Given the description of an element on the screen output the (x, y) to click on. 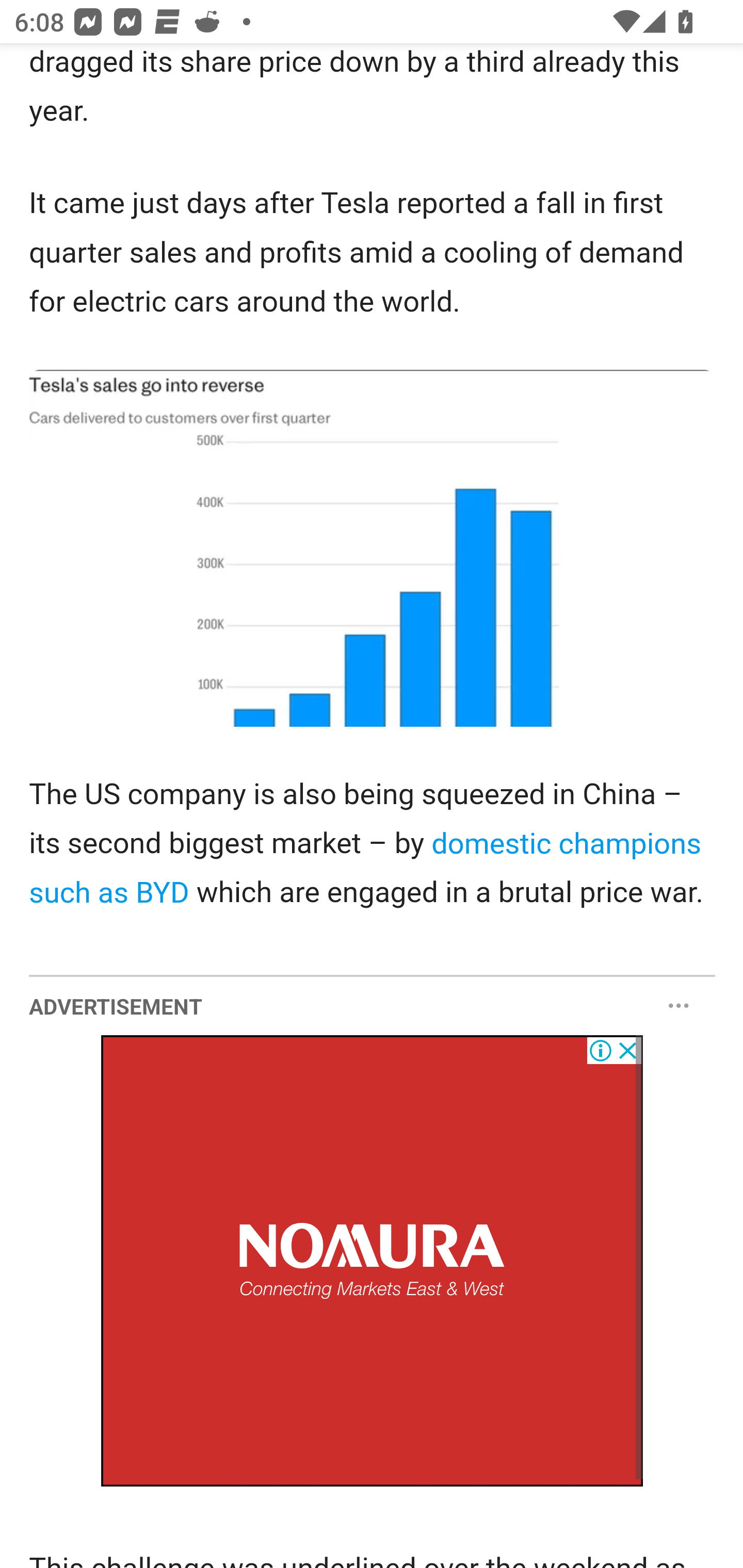
domestic champions such as BYD (365, 869)
